Given the description of an element on the screen output the (x, y) to click on. 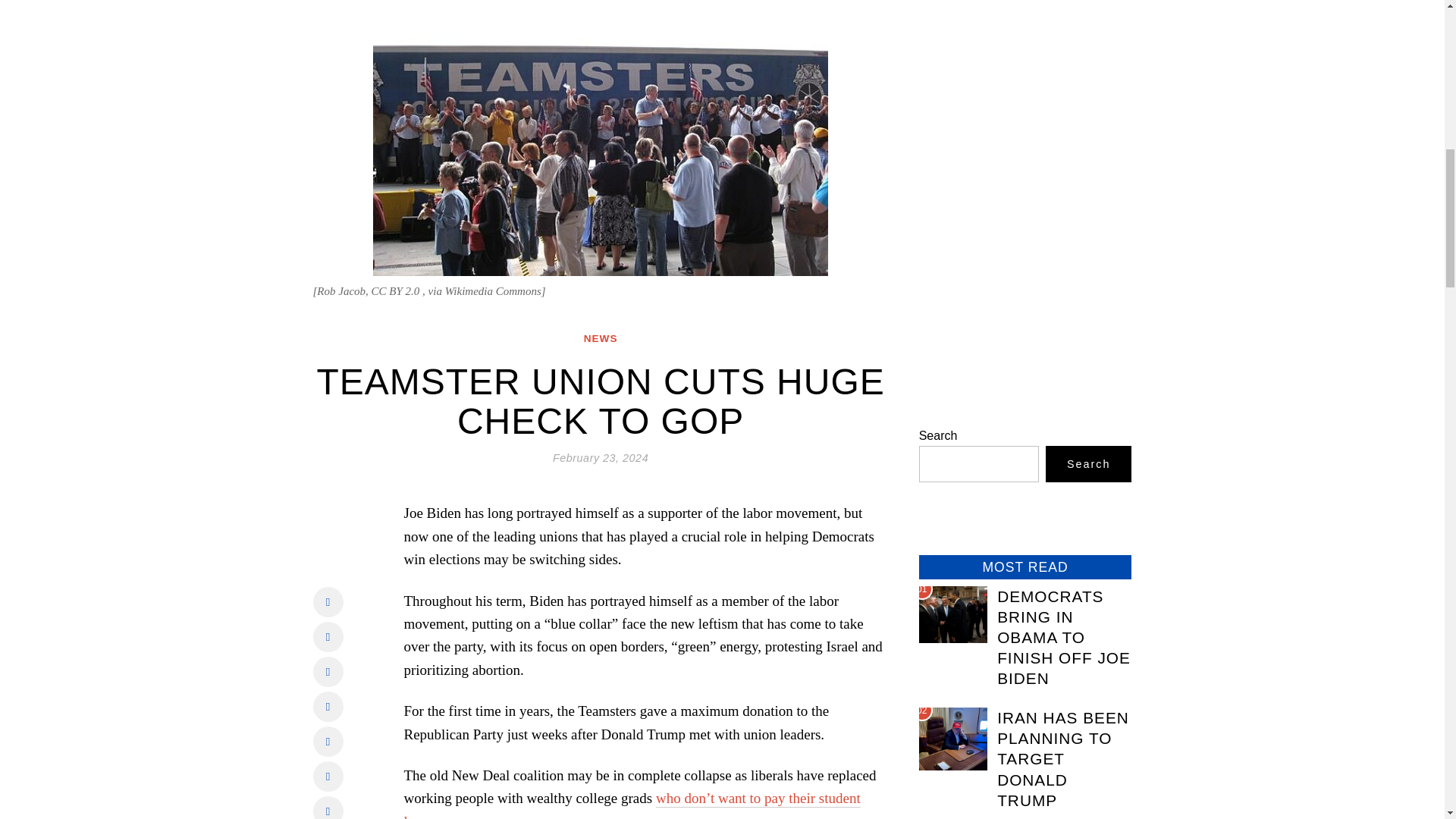
NEWS (600, 338)
